Given the description of an element on the screen output the (x, y) to click on. 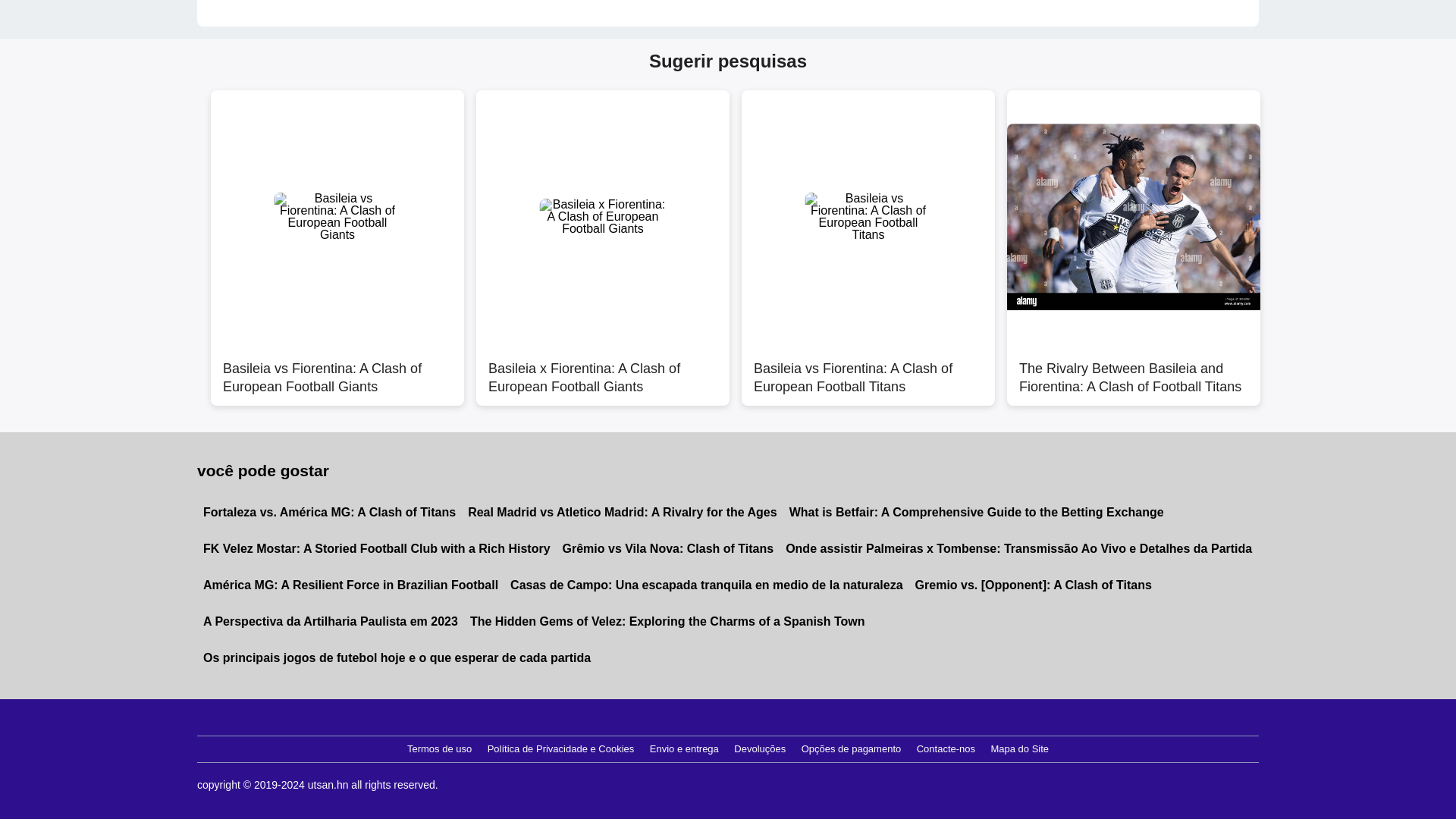
Basileia x Fiorentina: A Clash of European Football Giants (602, 369)
Termos de uso (439, 749)
Contacte-nos (946, 749)
A Perspectiva da Artilharia Paulista em 2023 (330, 621)
Basileia vs Fiorentina: A Clash of European Football Giants (337, 369)
Basileia vs Fiorentina: A Clash of European Football Titans (867, 369)
Real Madrid vs Atletico Madrid: A Rivalry for the Ages (622, 512)
FK Velez Mostar: A Storied Football Club with a Rich History (376, 548)
Envio e entrega (684, 749)
